Given the description of an element on the screen output the (x, y) to click on. 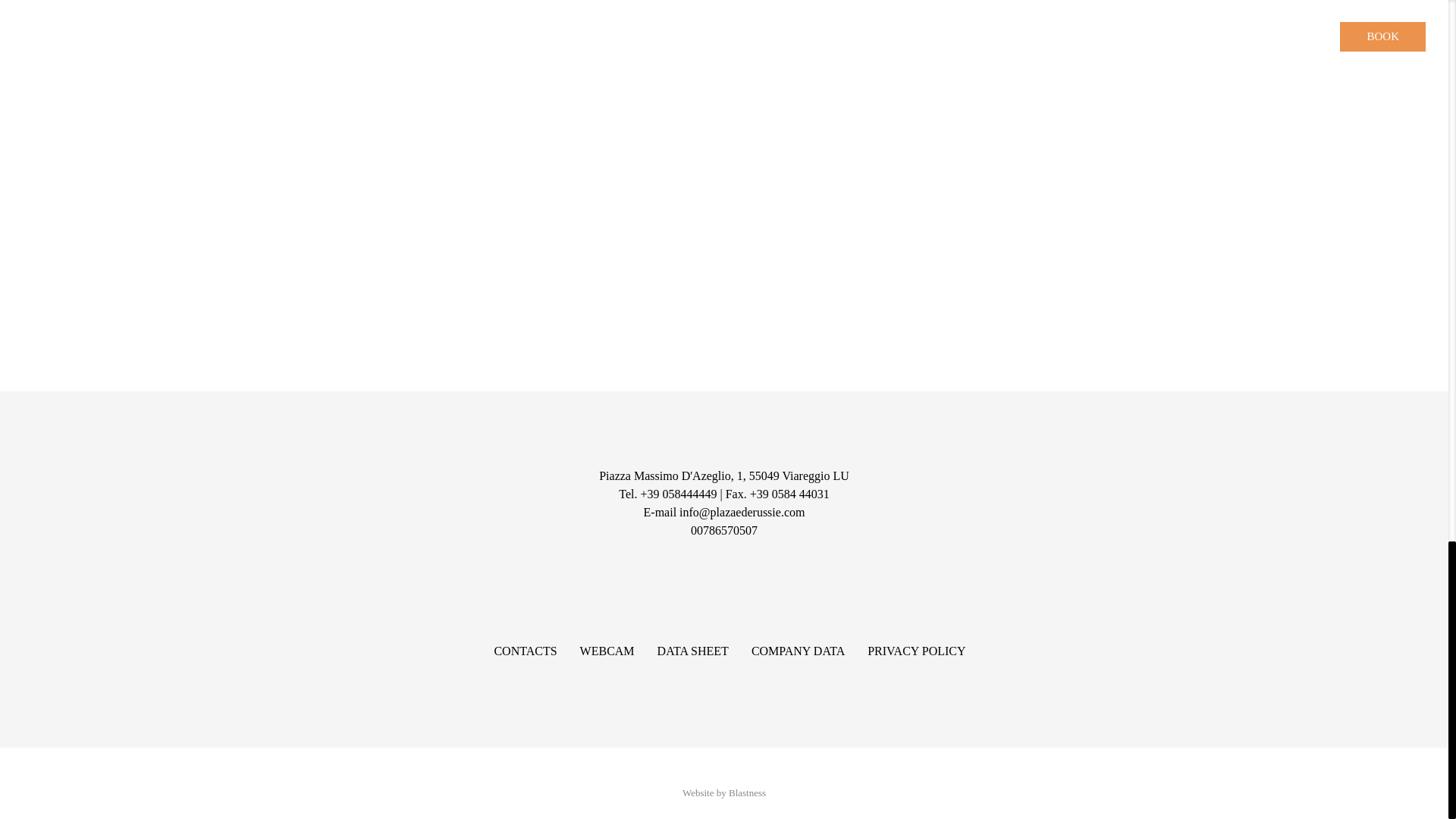
COMPANY DATA (797, 650)
DATA SHEET (693, 650)
WEBCAM (606, 650)
PRIVACY POLICY (916, 650)
CONTACTS (524, 650)
